Given the description of an element on the screen output the (x, y) to click on. 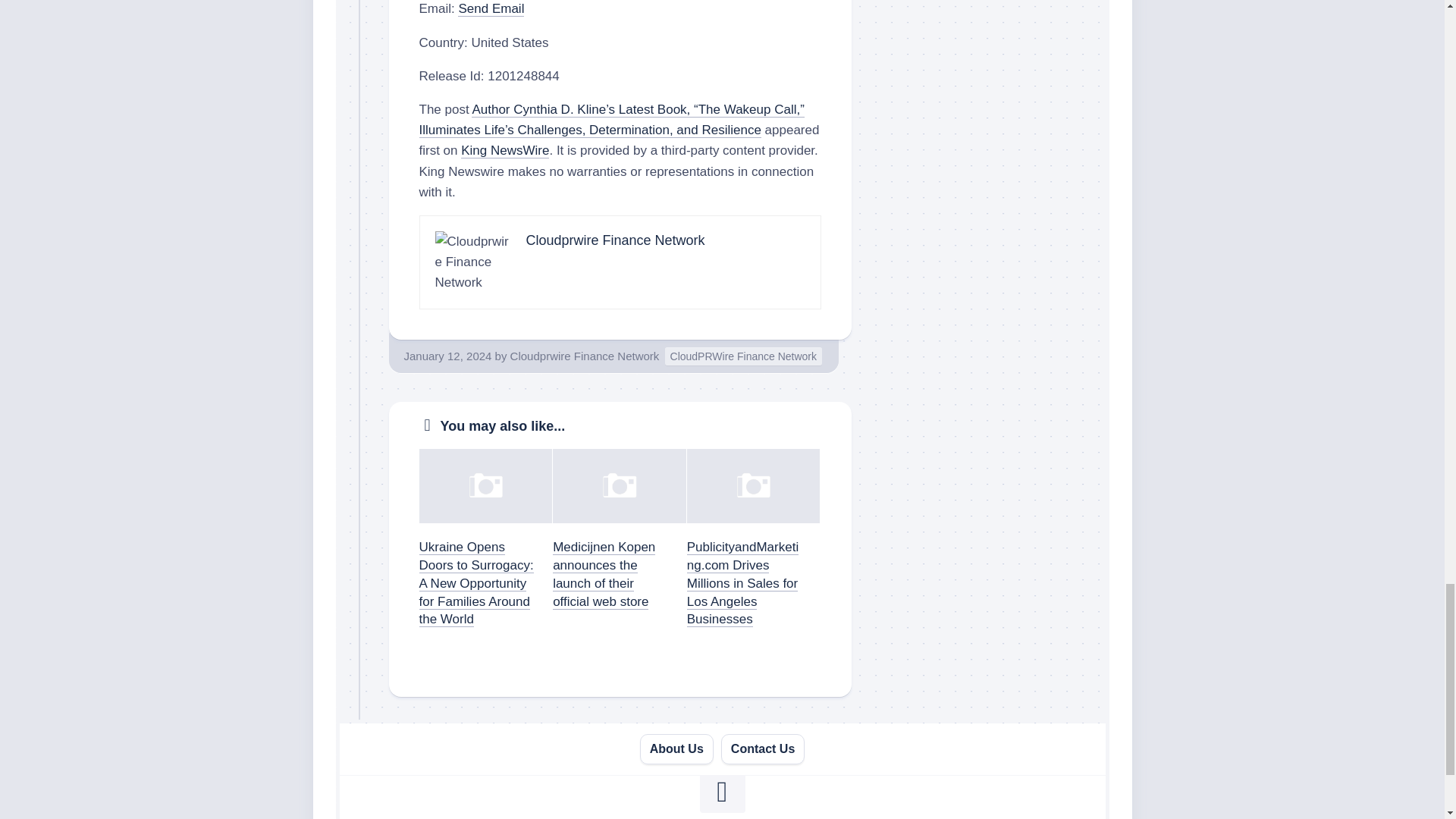
Cloudprwire Finance Network (614, 240)
Posts by Cloudprwire Finance Network (585, 354)
King NewsWire (504, 150)
Contact Us (762, 749)
About Us (676, 749)
Send Email (491, 8)
CloudPRWire Finance Network (743, 356)
